Given the description of an element on the screen output the (x, y) to click on. 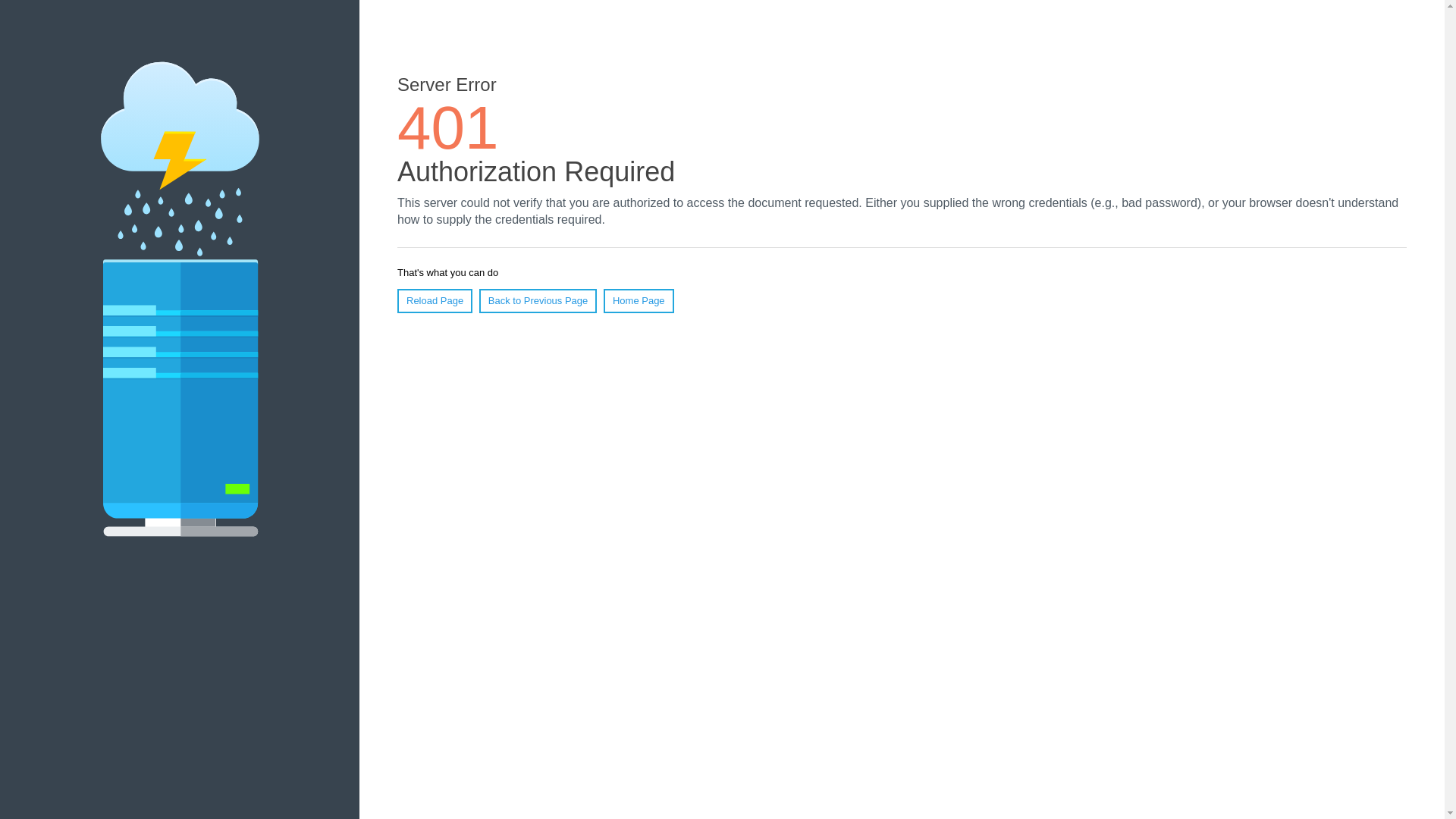
Back to Previous Page Element type: text (538, 300)
Home Page Element type: text (638, 300)
Reload Page Element type: text (434, 300)
